Given the description of an element on the screen output the (x, y) to click on. 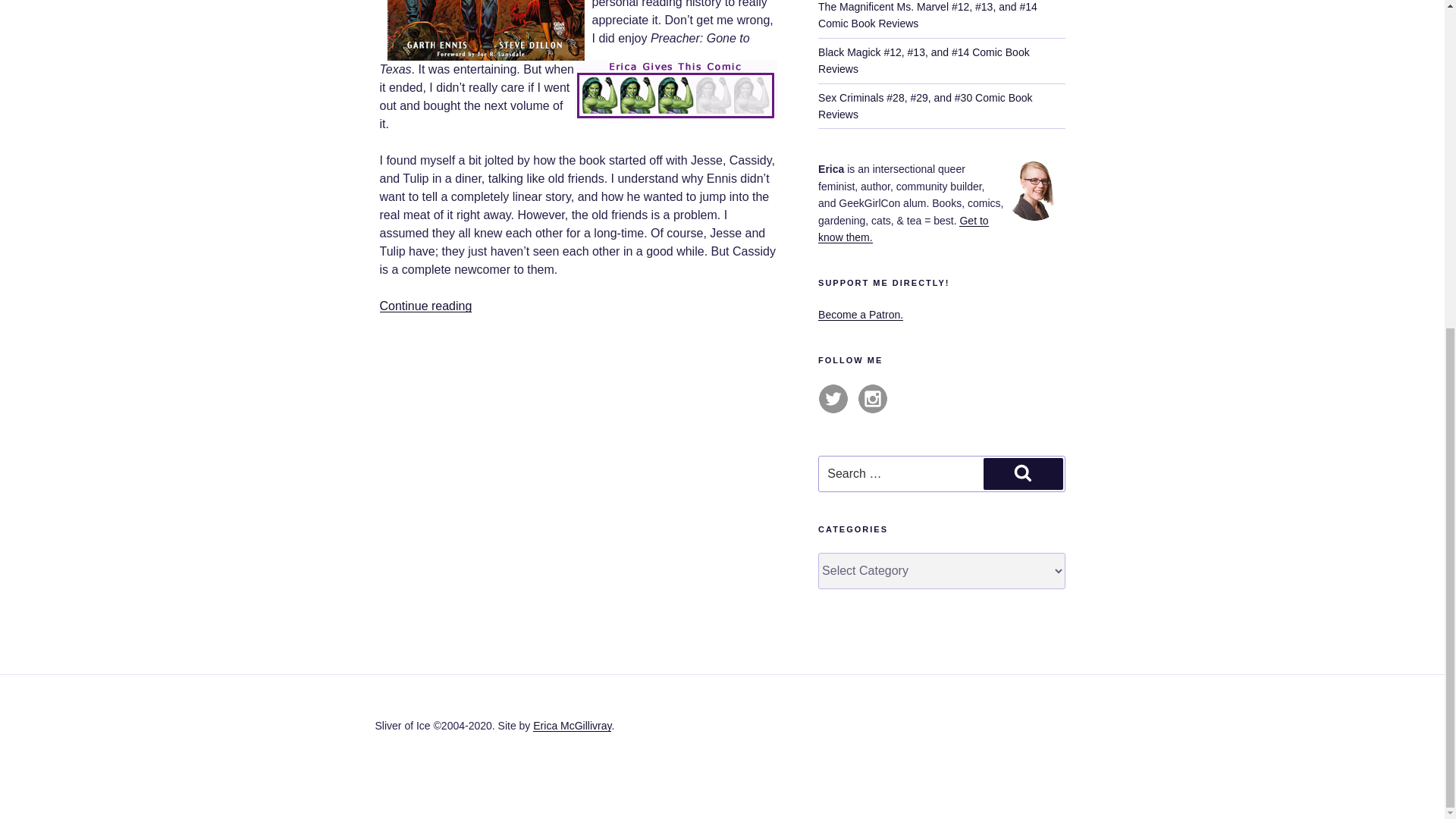
Erica McGillivray (571, 725)
Get to know them. (903, 228)
preacher-cover (485, 30)
Search (1023, 473)
Become a Patron. (860, 314)
threestar (676, 90)
